Given the description of an element on the screen output the (x, y) to click on. 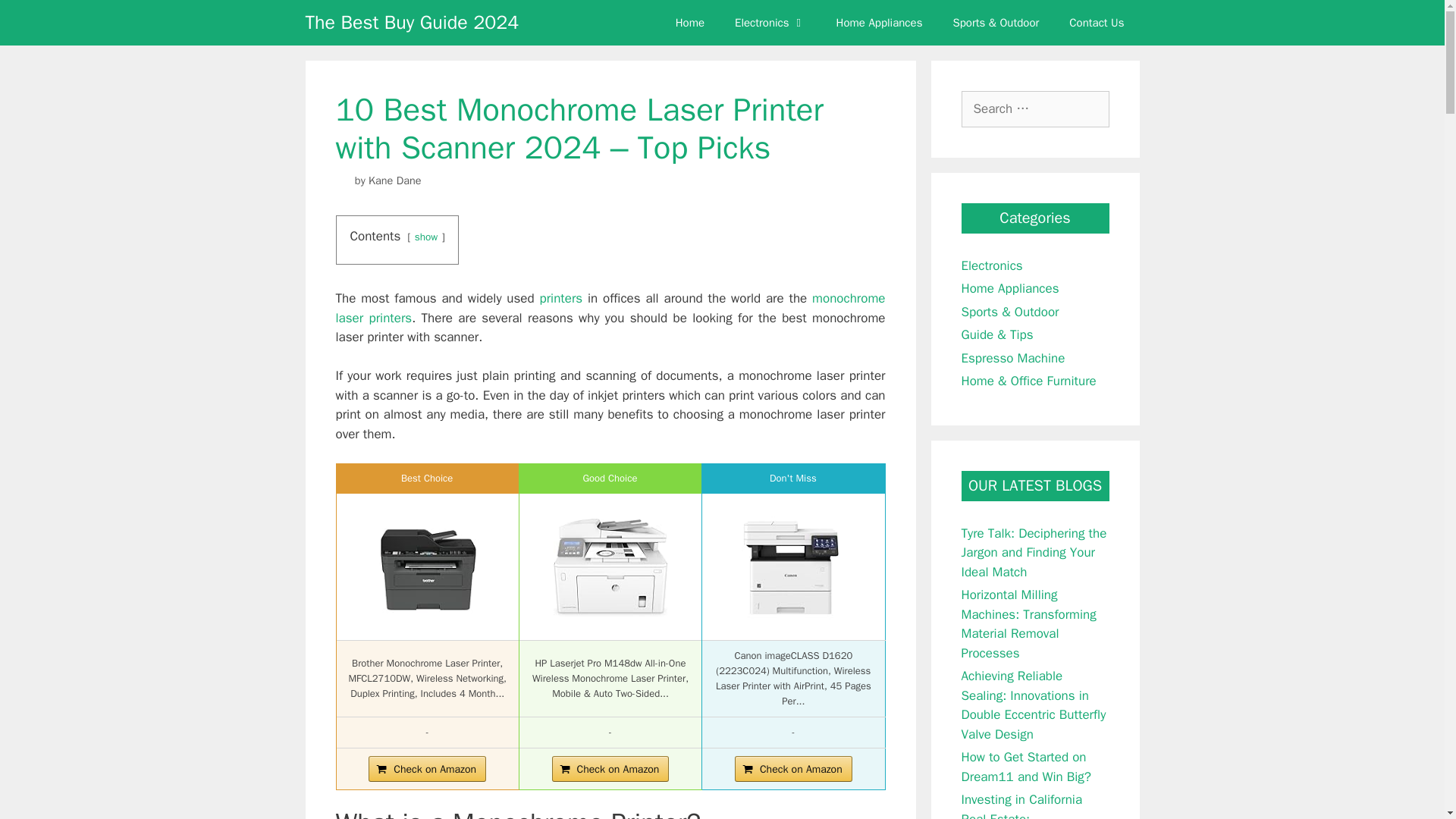
Search for: (1034, 108)
View all posts by Kane Dane (394, 180)
Electronics (770, 22)
Check on Amazon (427, 768)
Kane Dane (394, 180)
Check on Amazon (610, 768)
monochrome laser printers (609, 307)
Check on Amazon (793, 768)
show (426, 236)
Check on Amazon (427, 768)
